Given the description of an element on the screen output the (x, y) to click on. 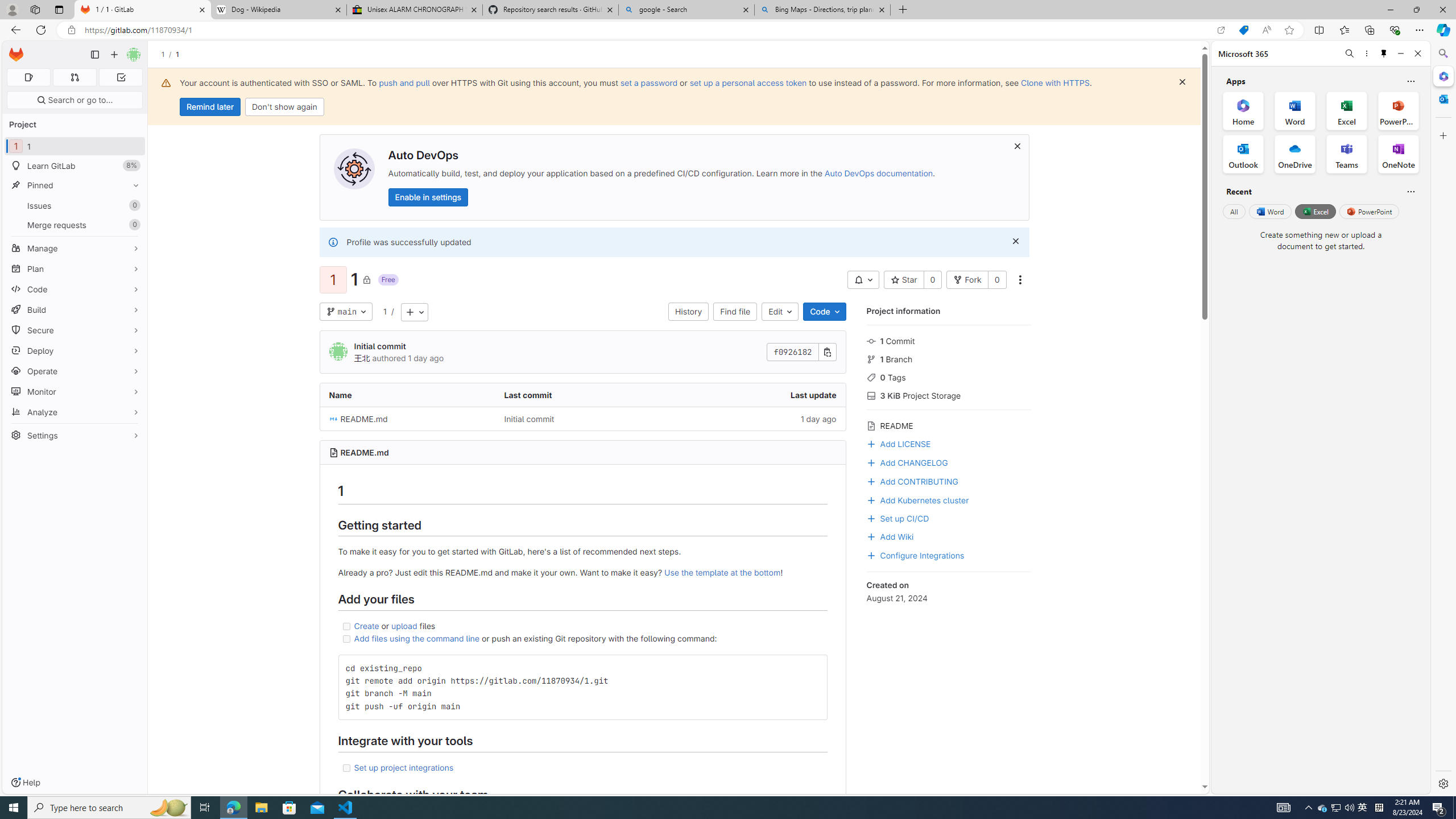
Monitor (74, 391)
Primary navigation sidebar (94, 54)
History (688, 311)
README (948, 424)
Personal Profile (12, 9)
1 1 (74, 145)
Class: btn btn-default btn-md gl-button btn-icon has-tooltip (813, 667)
Homepage (16, 54)
Build (74, 309)
Manage (74, 248)
Issues 0 (74, 205)
upload (404, 625)
PowerPoint (1369, 210)
